Given the description of an element on the screen output the (x, y) to click on. 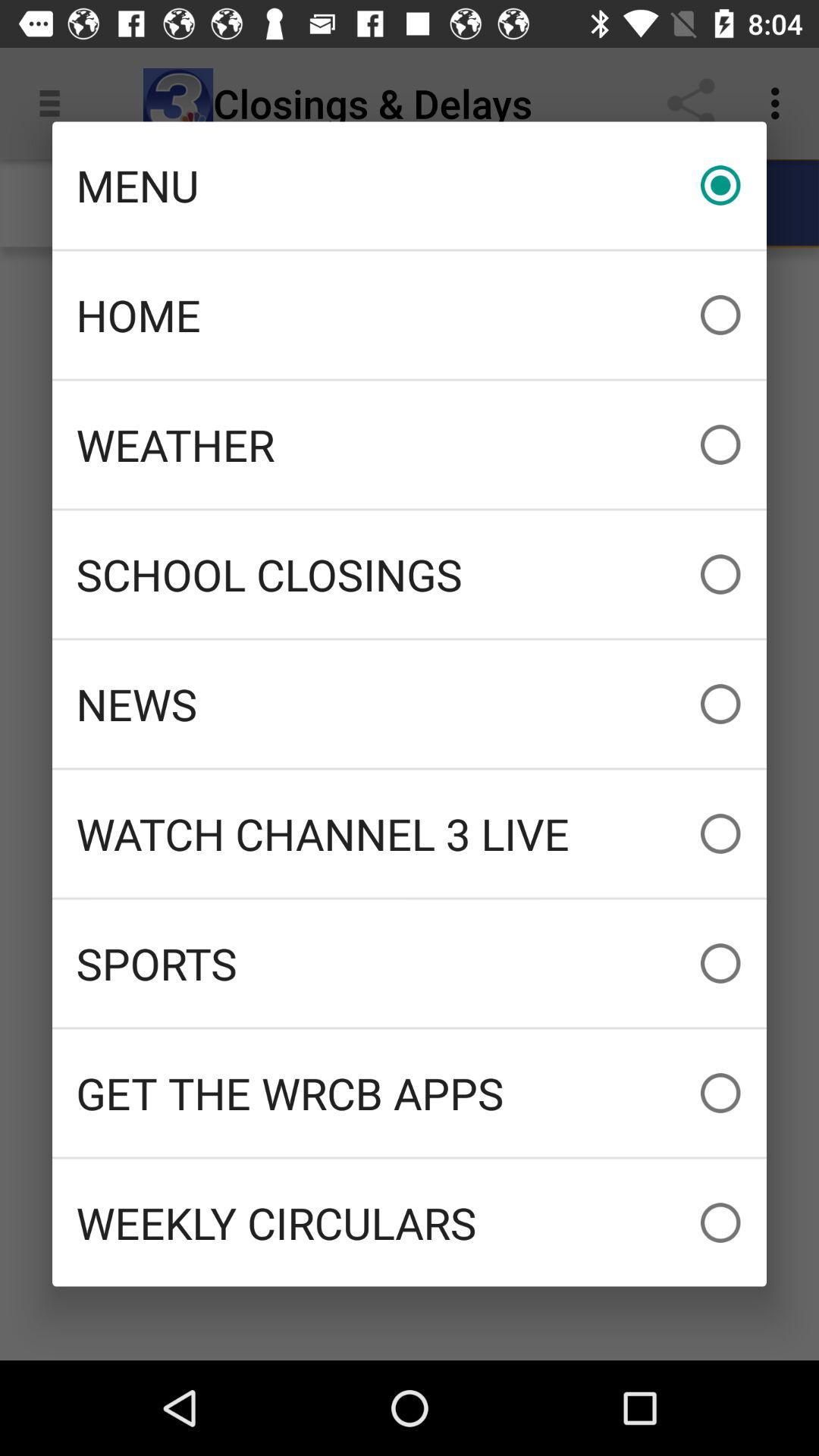
swipe until the get the wrcb item (409, 1092)
